Given the description of an element on the screen output the (x, y) to click on. 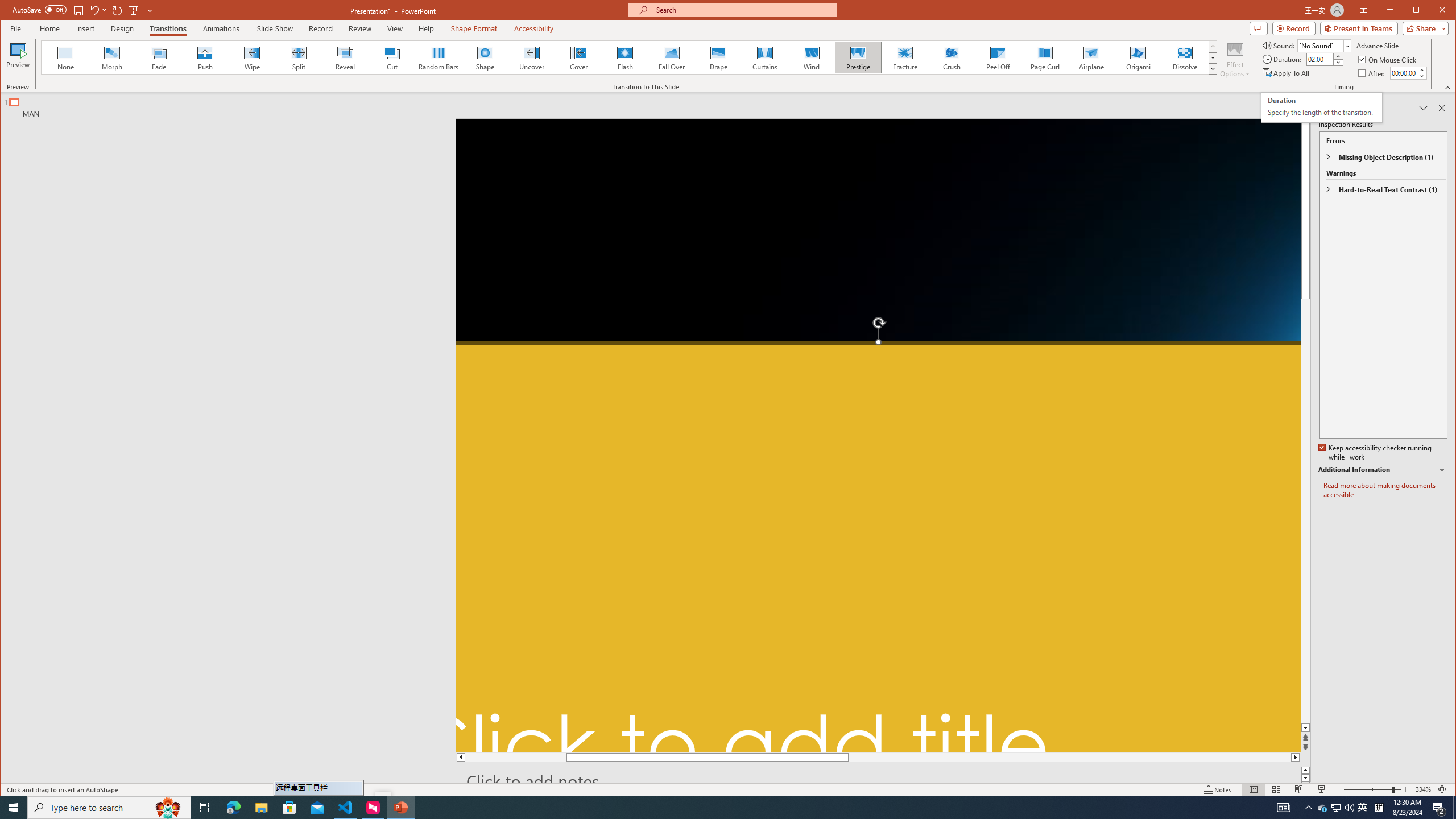
Uncover (531, 57)
After (1372, 72)
Origami (1138, 57)
Fall Over (670, 57)
